Given the description of an element on the screen output the (x, y) to click on. 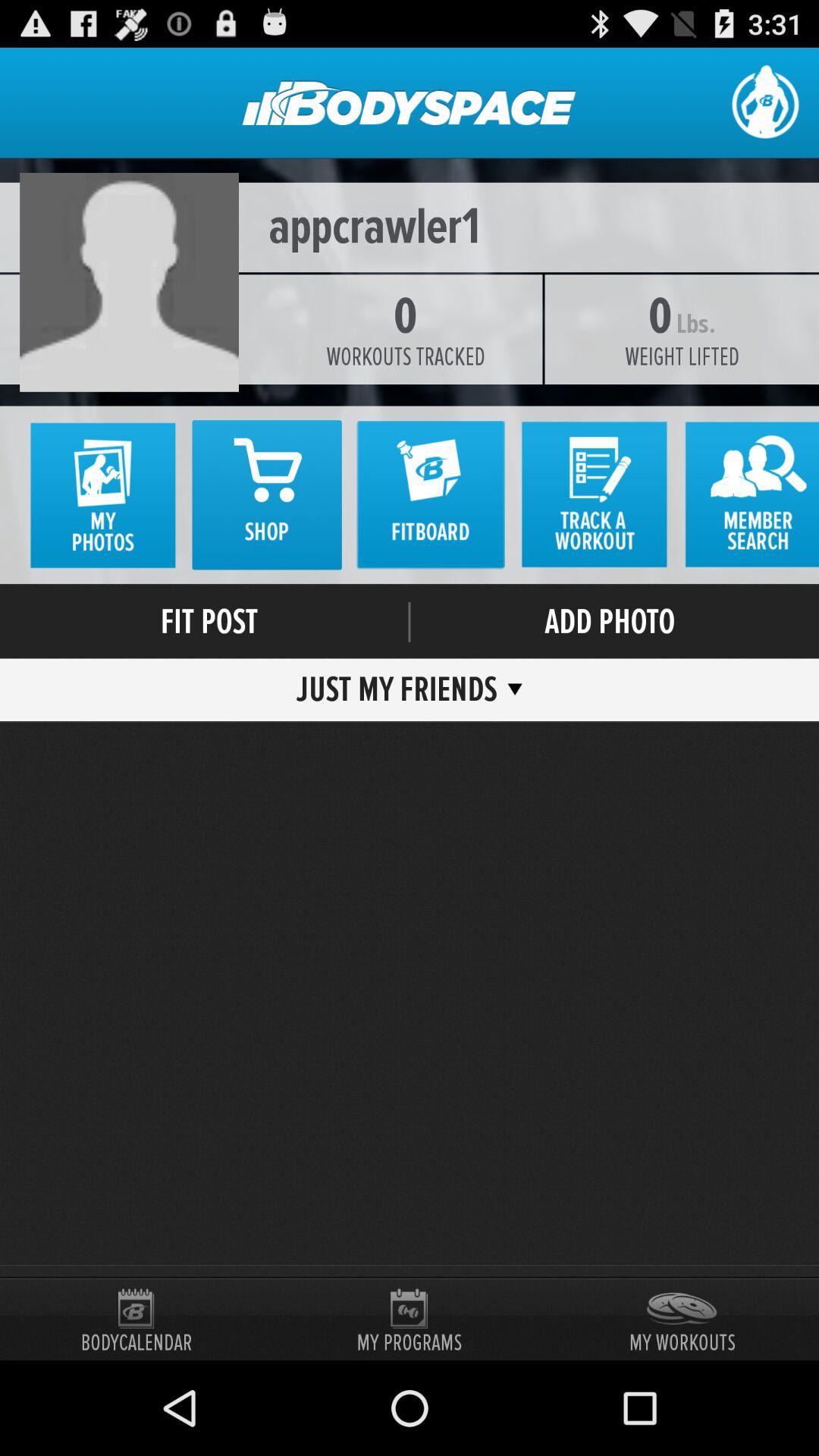
tap the icon to the right of the 0 (681, 356)
